Given the description of an element on the screen output the (x, y) to click on. 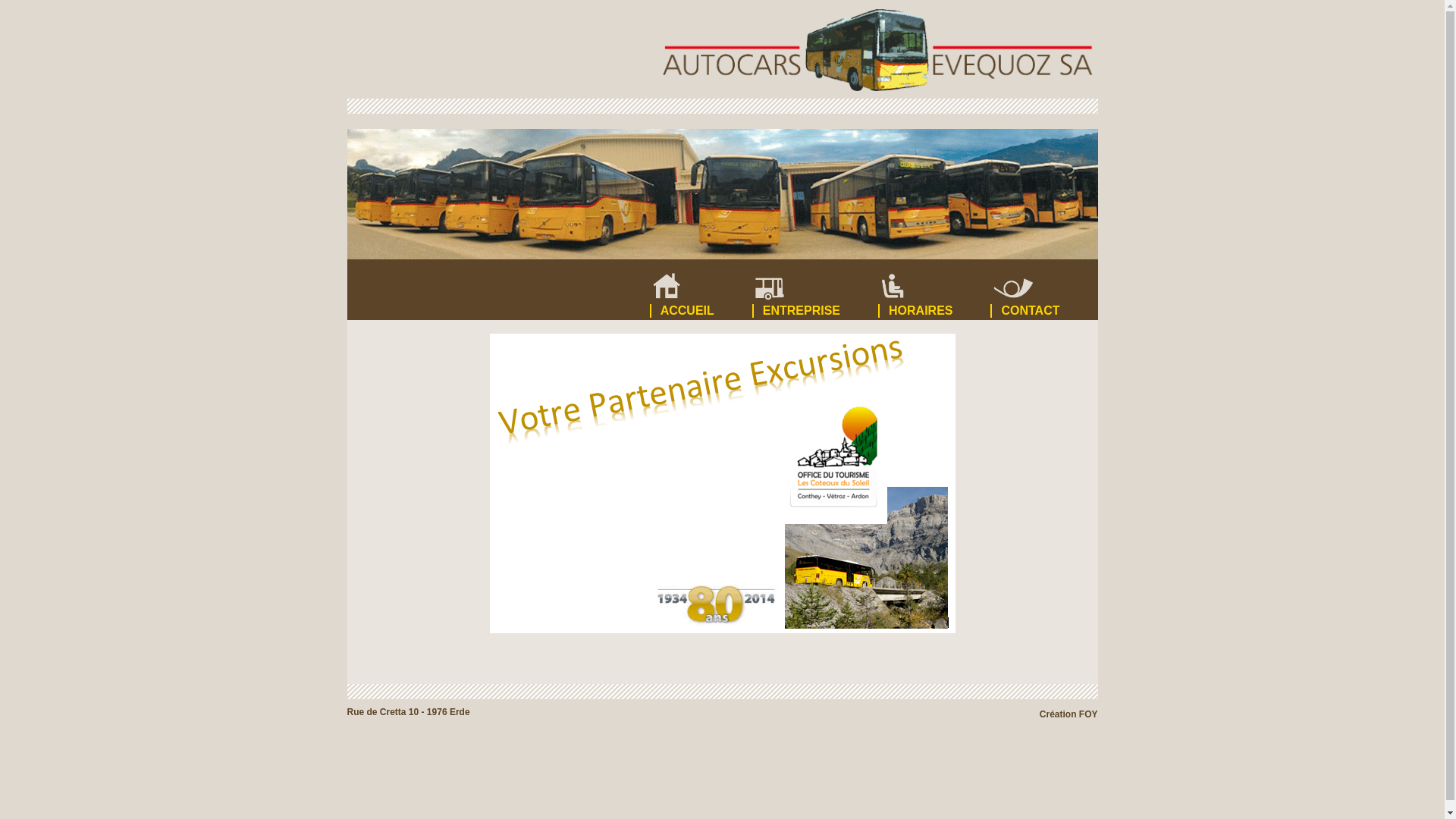
CONTACT Element type: text (1043, 288)
HORAIRES Element type: text (934, 288)
ACCUEIL Element type: text (700, 288)
ENTREPRISE Element type: text (815, 288)
